Given the description of an element on the screen output the (x, y) to click on. 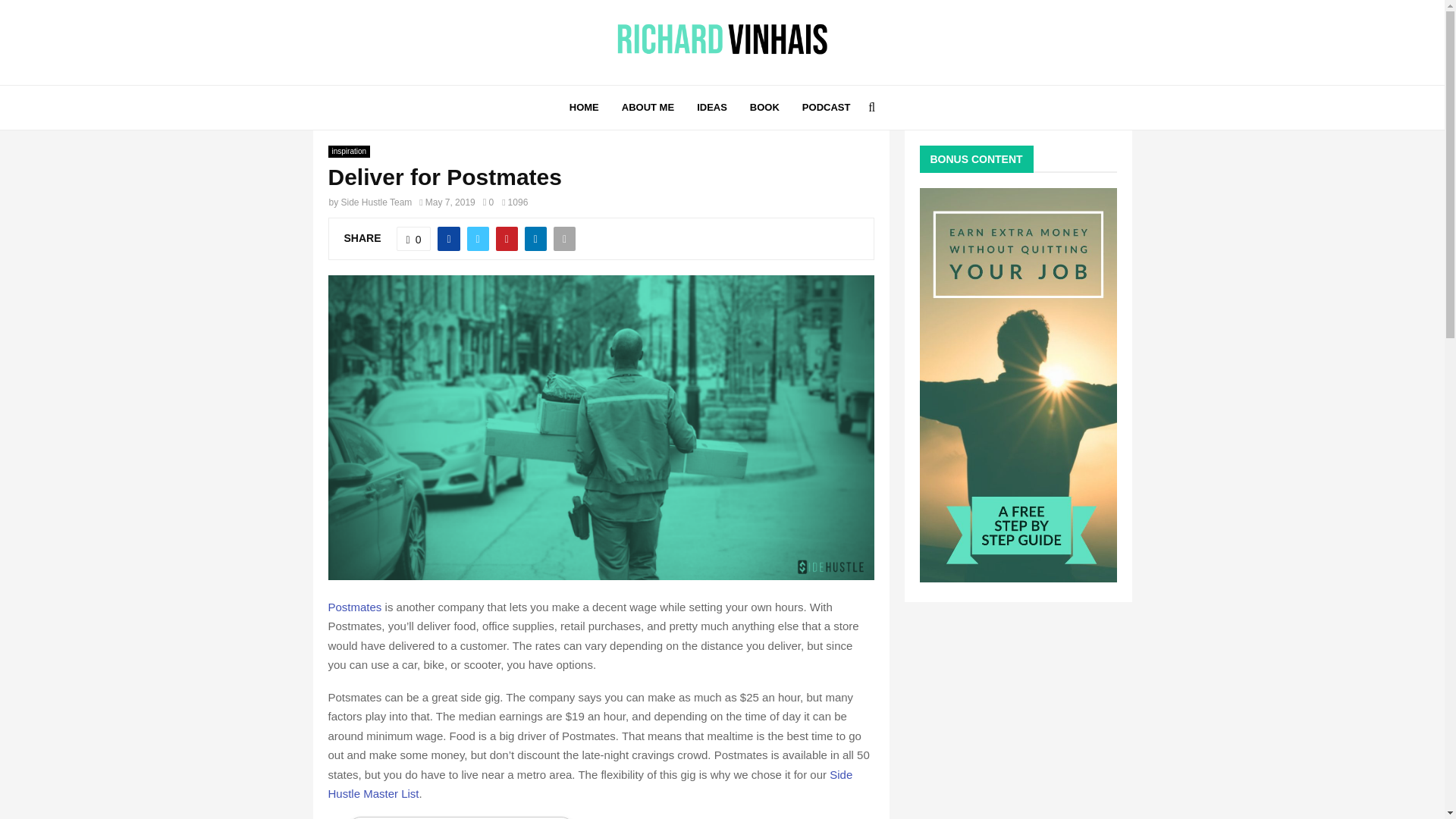
Side Hustle Team (376, 202)
Like (413, 238)
Side Hustle Master List (589, 784)
inspiration (348, 151)
0 (413, 238)
ABOUT ME (647, 107)
Postmates (354, 606)
PODCAST (826, 107)
0 (488, 202)
